Given the description of an element on the screen output the (x, y) to click on. 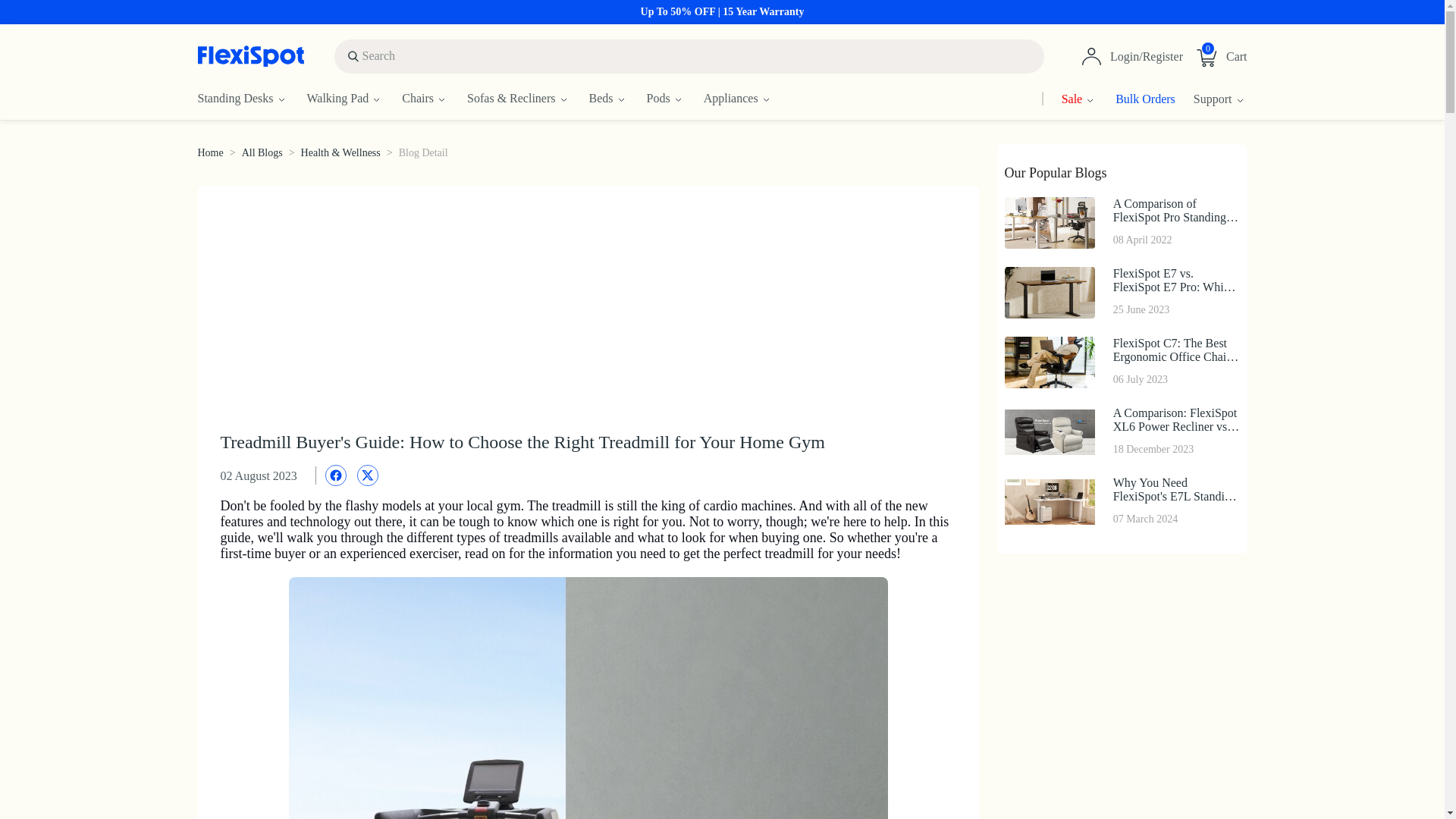
Pods (674, 98)
Bulk Orders (1135, 98)
Chairs (434, 98)
Standing Desks (1219, 55)
Appliances (250, 98)
